Given the description of an element on the screen output the (x, y) to click on. 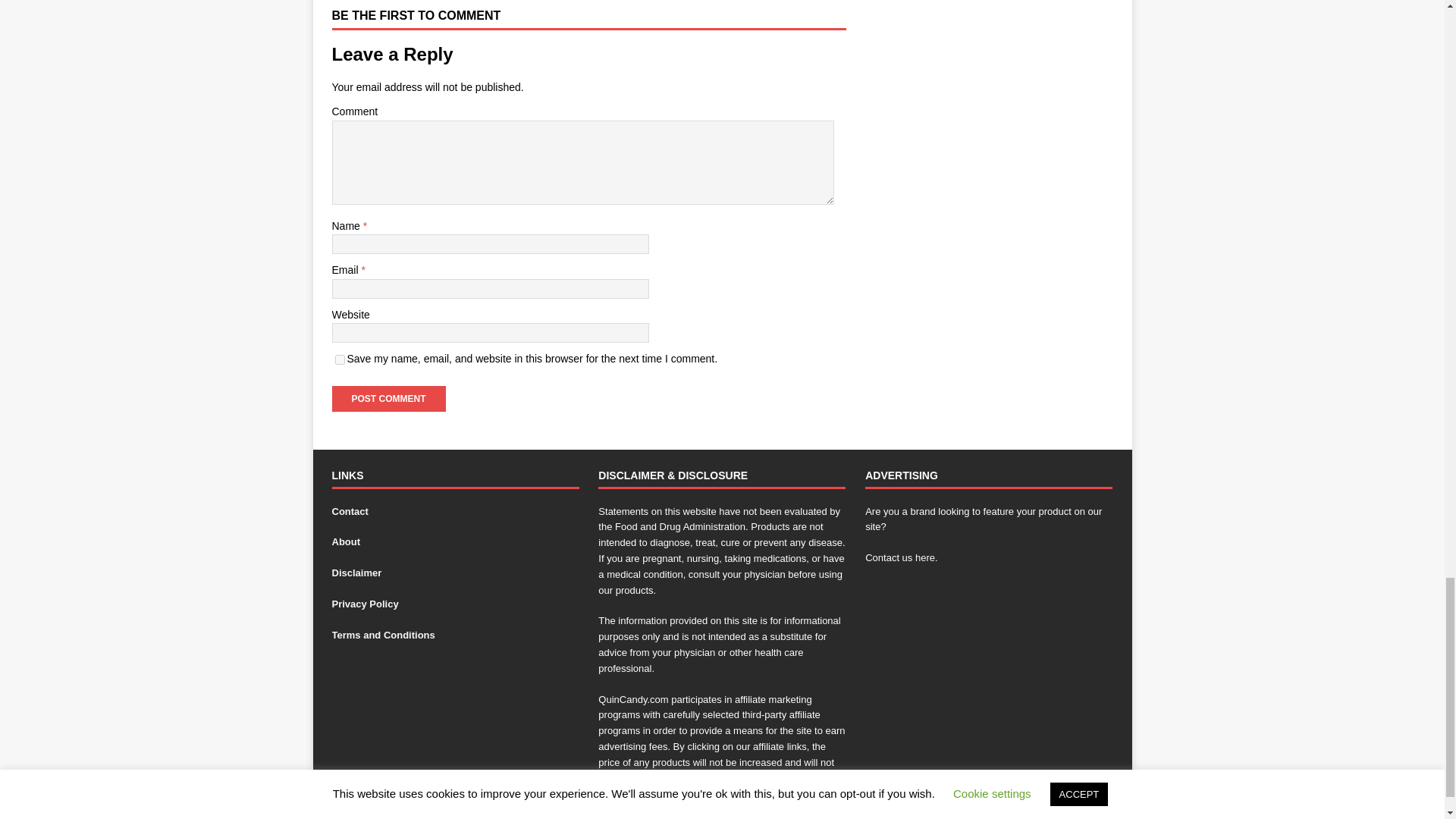
Post Comment (388, 398)
Post Comment (388, 398)
yes (339, 359)
